Given the description of an element on the screen output the (x, y) to click on. 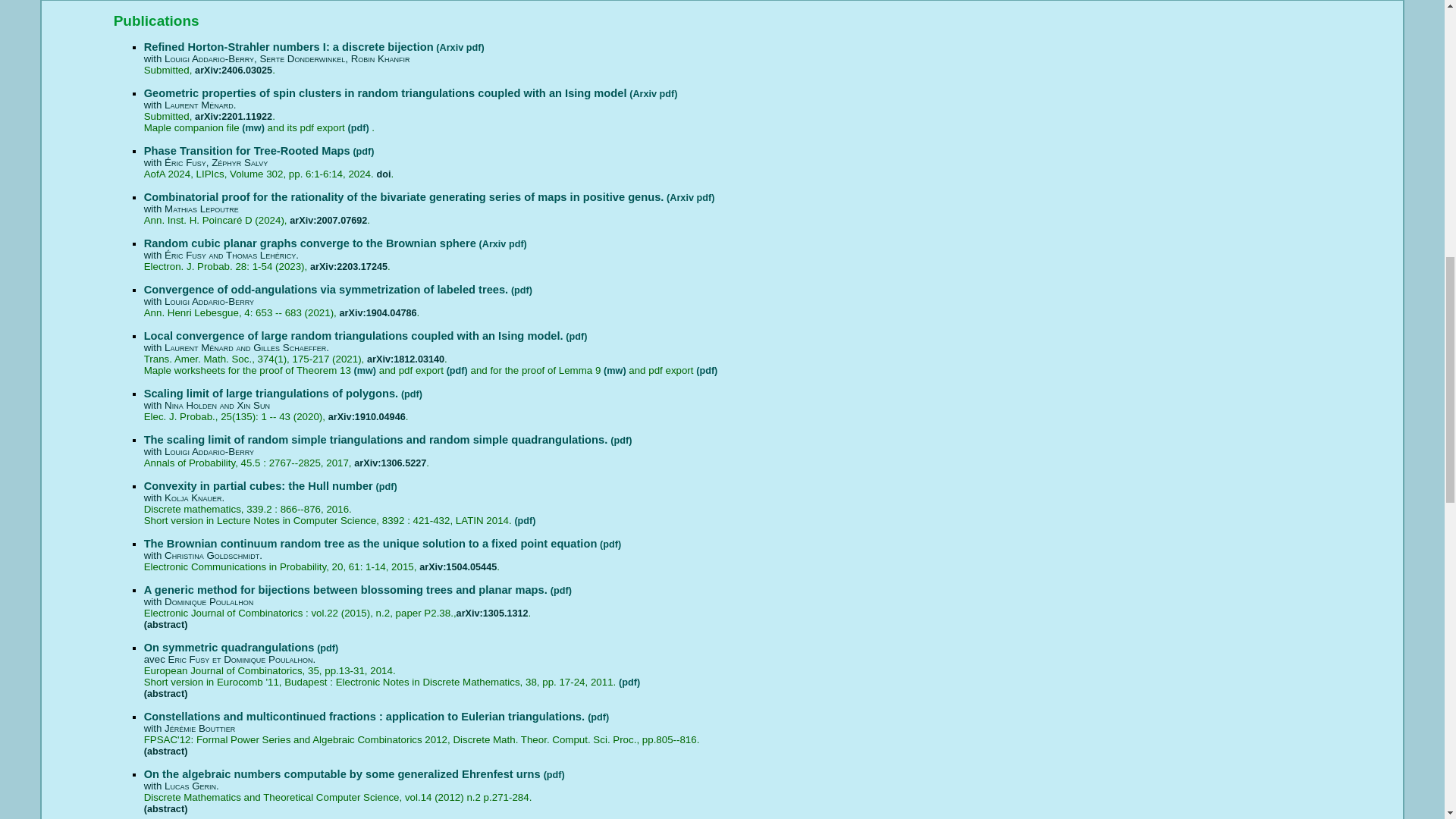
doi (382, 173)
arXiv:2406.03025 (233, 70)
arXiv:2201.11922 (233, 116)
Publications (722, 20)
